Given the description of an element on the screen output the (x, y) to click on. 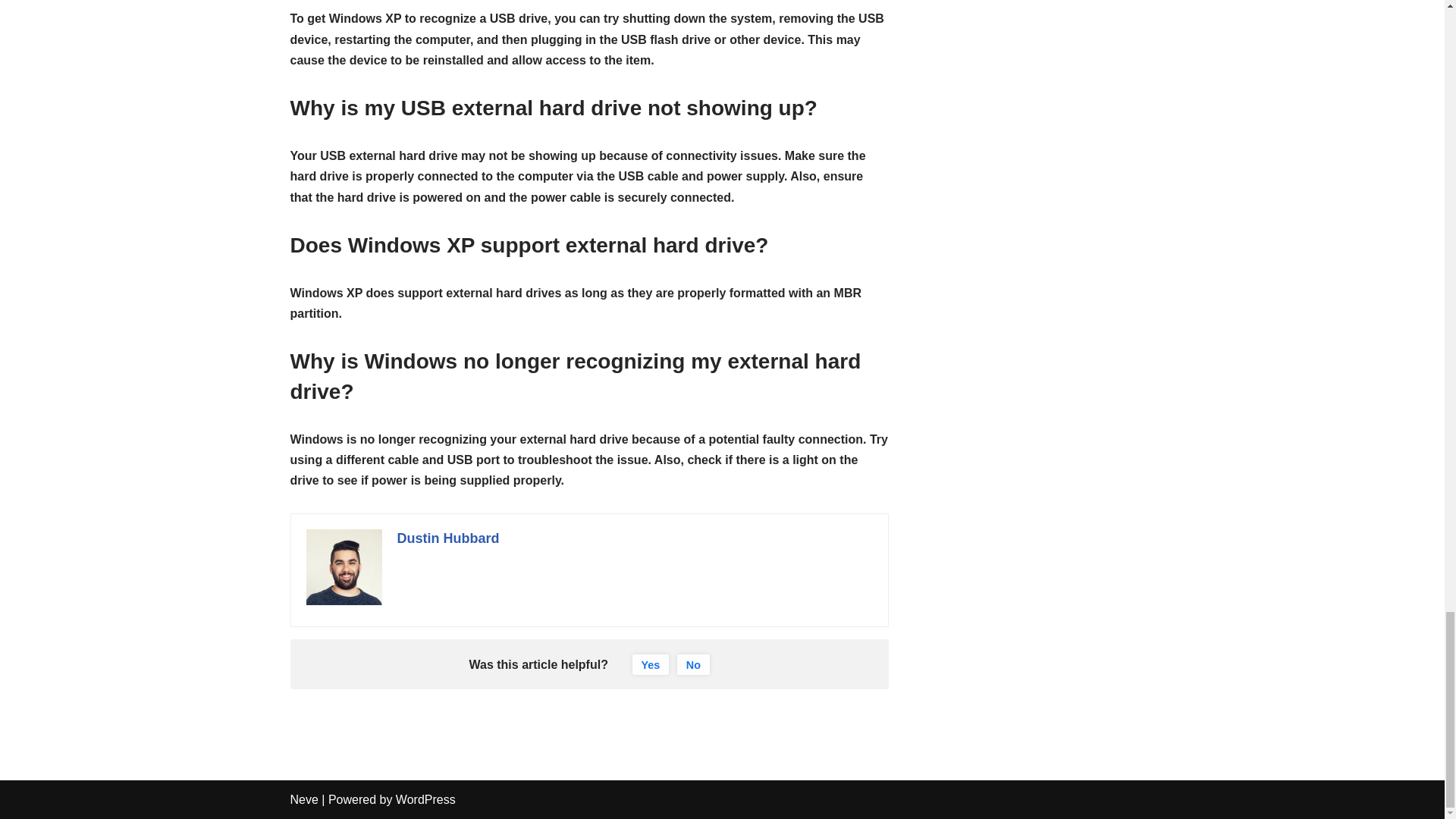
Neve (303, 799)
Dustin Hubbard (448, 538)
WordPress (425, 799)
